Given the description of an element on the screen output the (x, y) to click on. 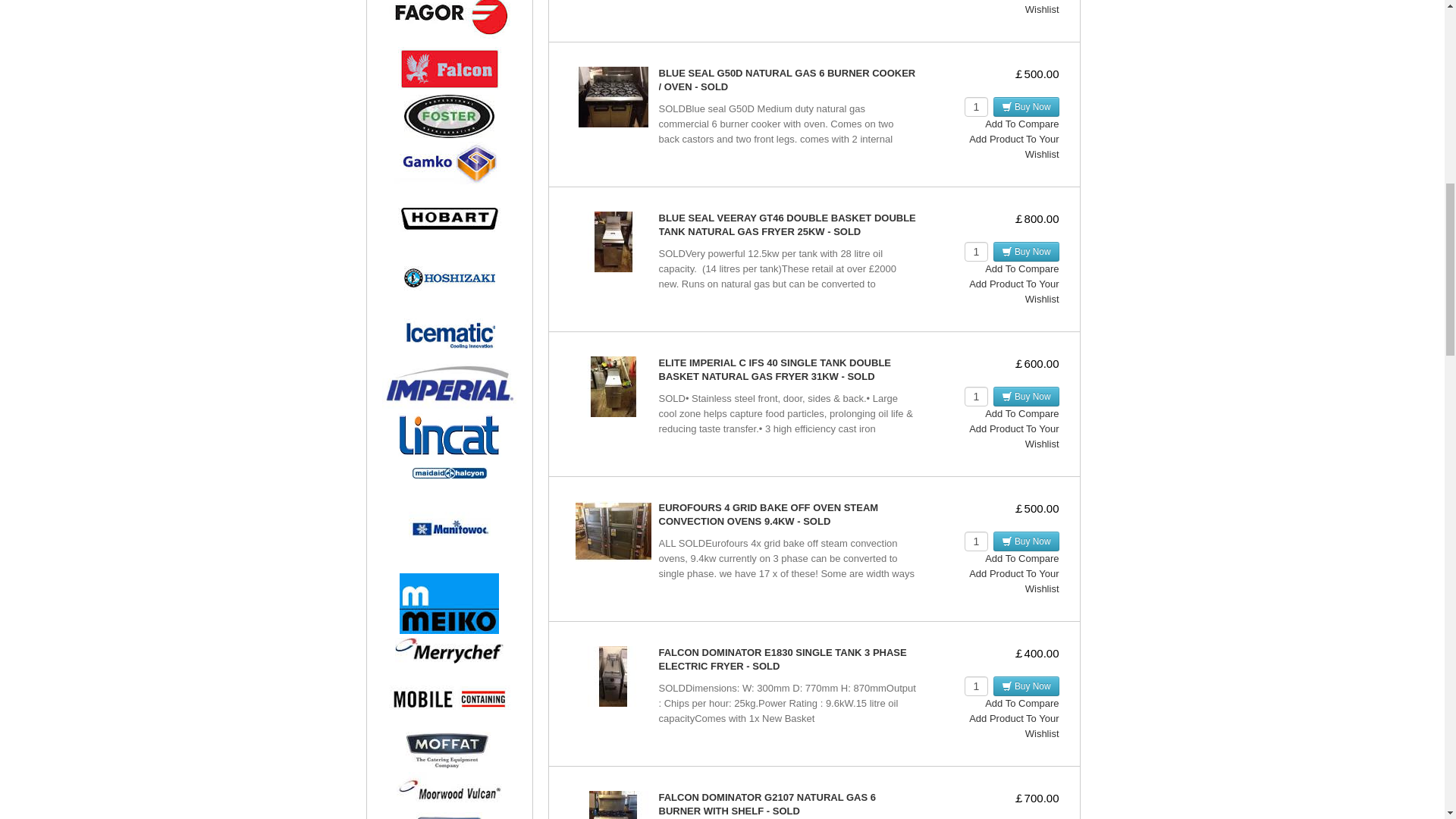
1 (975, 396)
1 (975, 251)
1 (975, 686)
1 (975, 107)
Gamko (449, 163)
Hoshizaki (449, 278)
1 (975, 541)
Falcon (448, 68)
Maidaid Halcyon (448, 472)
Lincat (448, 435)
Fagor (448, 21)
Hobart (448, 216)
Icematic (448, 333)
Imperial (448, 383)
Foster (449, 116)
